Given the description of an element on the screen output the (x, y) to click on. 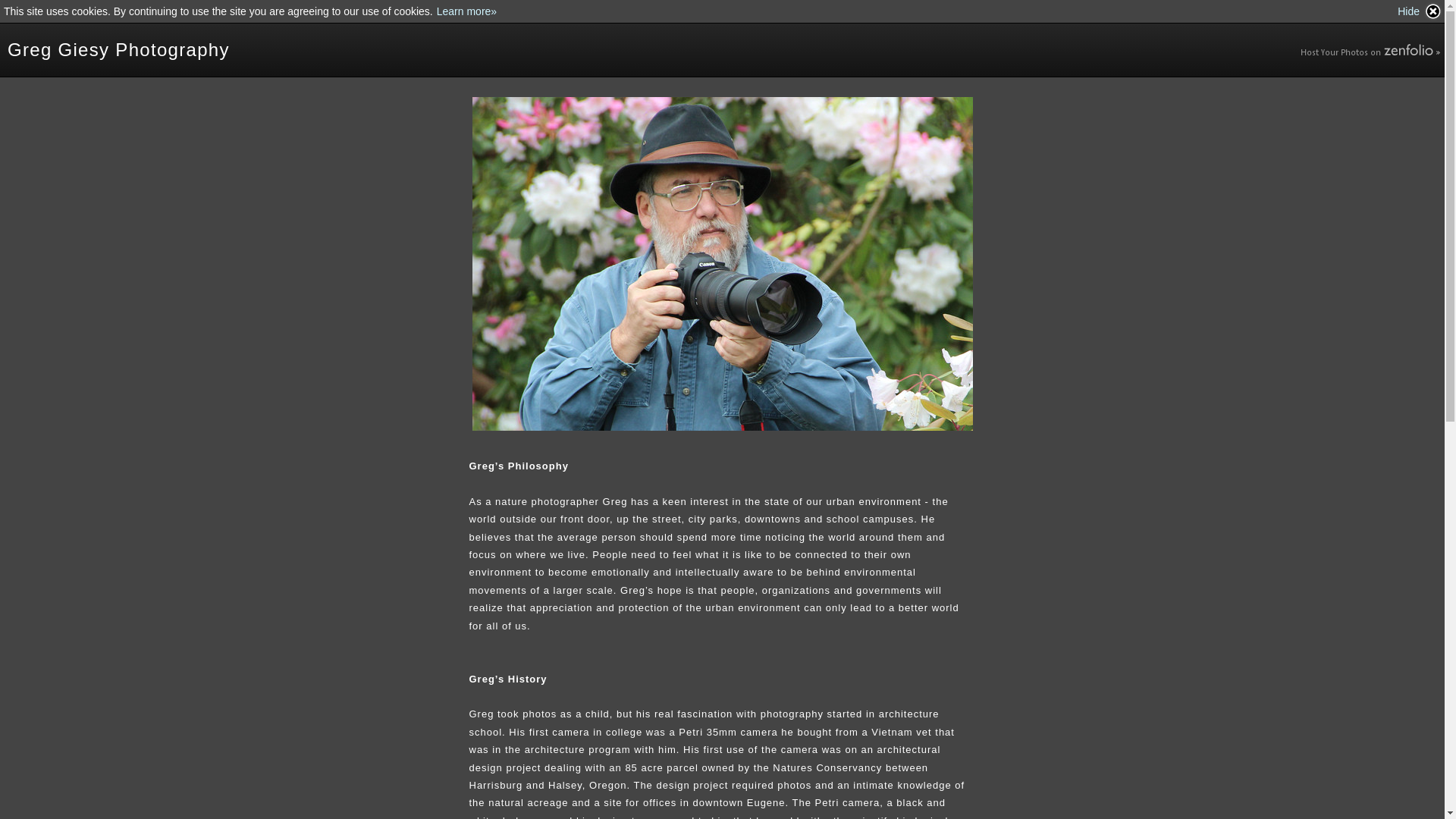
Hide (1419, 11)
Greg Giesy Photography (118, 49)
Greg Giesy Photography (118, 49)
